Given the description of an element on the screen output the (x, y) to click on. 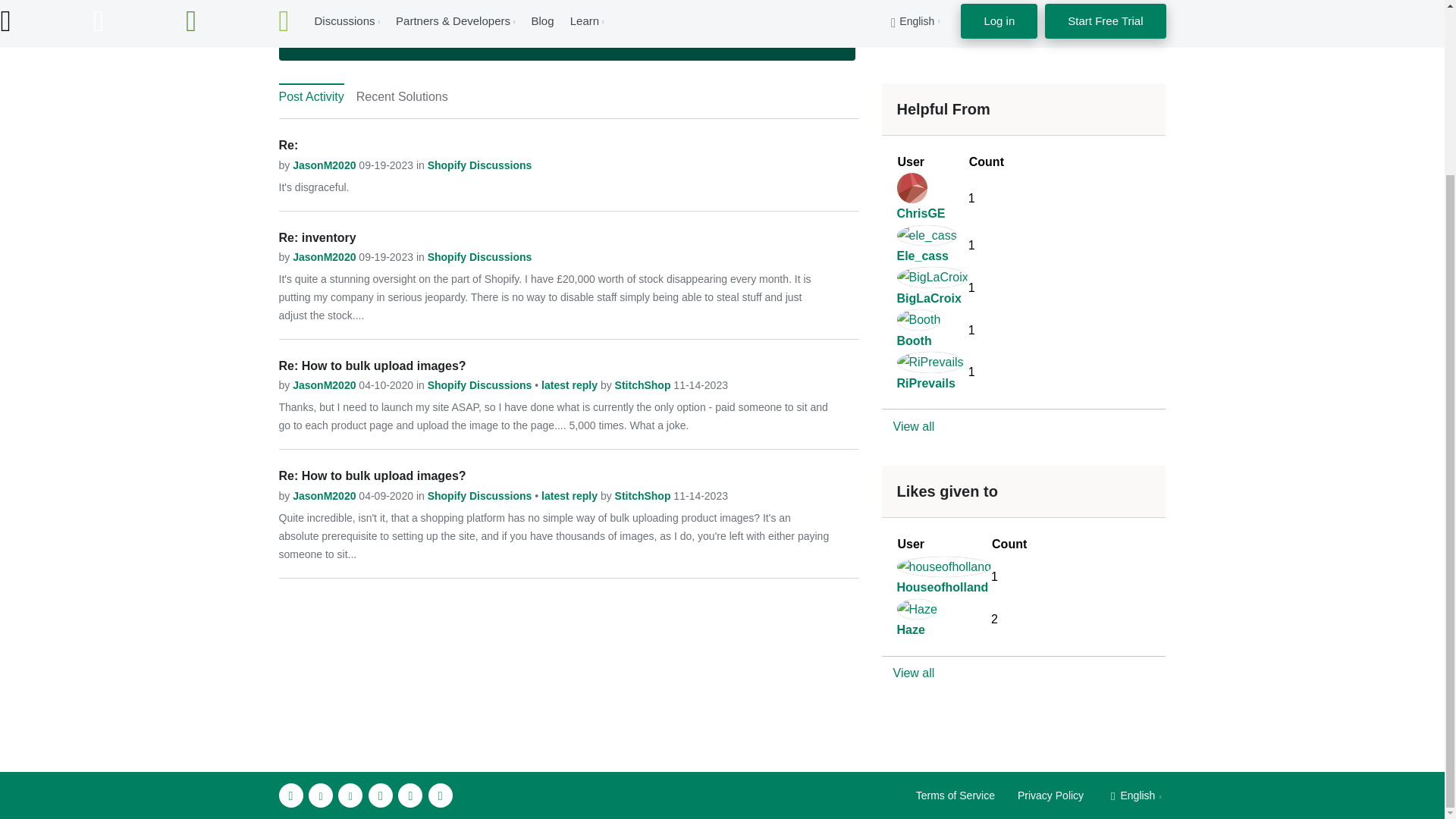
10 Posts (417, 22)
1st Like (467, 22)
Original Member (316, 22)
1st Post (518, 22)
10 Likes (366, 22)
View profile (325, 164)
View profile (325, 256)
